Given the description of an element on the screen output the (x, y) to click on. 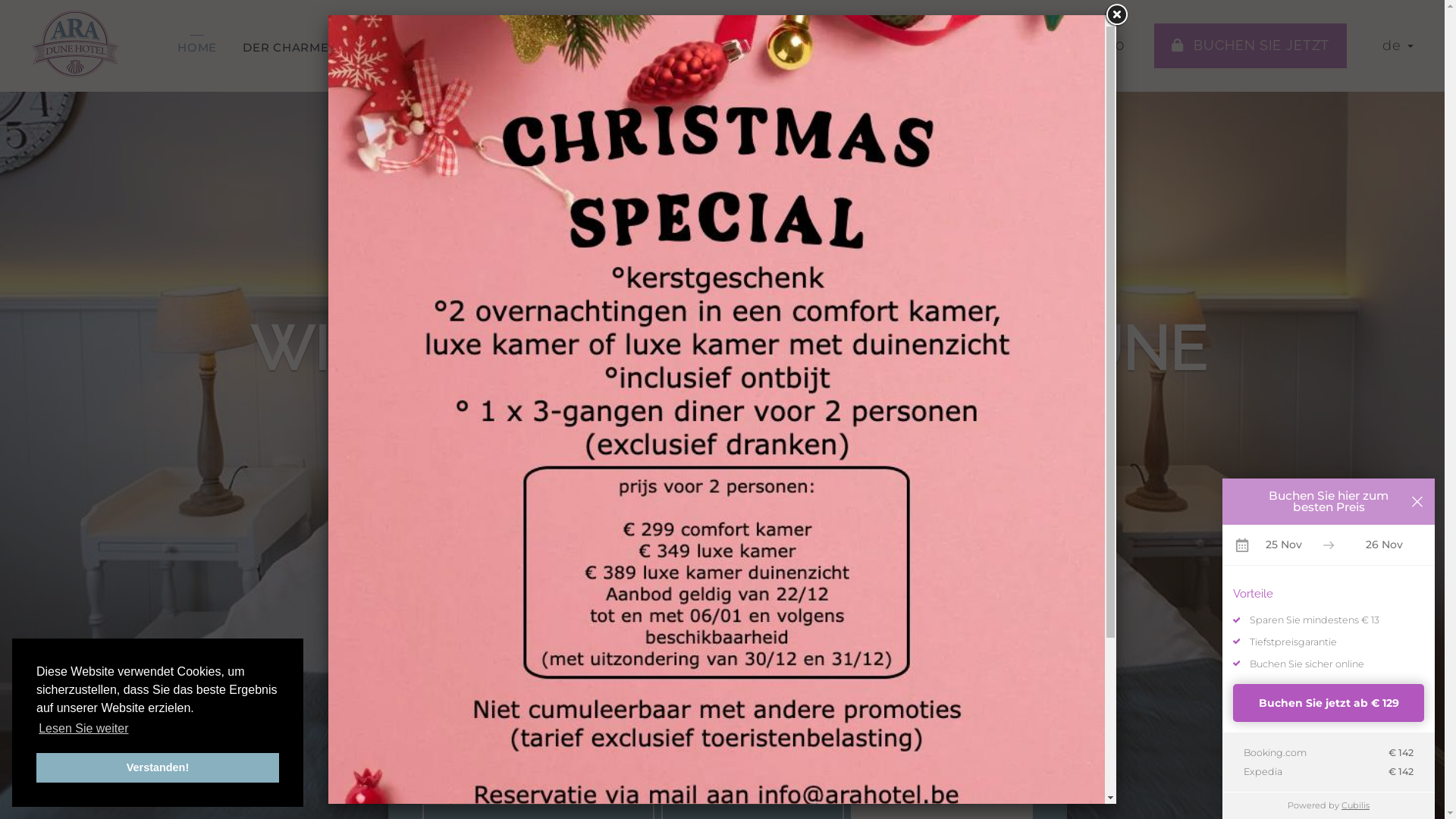
BUCHEN SIE JETZT Element type: text (1250, 45)
Verstanden! Element type: text (157, 767)
de Element type: text (1397, 45)
BRASSERIE UND BOUTIQUE Element type: text (597, 46)
DER CHARME VON ARA Element type: text (317, 46)
HOME Element type: text (196, 46)
MEHR INFO Element type: text (1090, 45)
ARRANGEMENTS Element type: text (874, 46)
Cubilis Element type: text (1355, 805)
Ara Dune Hotel Element type: hover (75, 41)
Lesen Sie weiter Element type: text (83, 728)
UMGEBUNG Element type: text (749, 46)
Close Element type: hover (1115, 14)
ZIMMER Element type: text (450, 46)
